Given the description of an element on the screen output the (x, y) to click on. 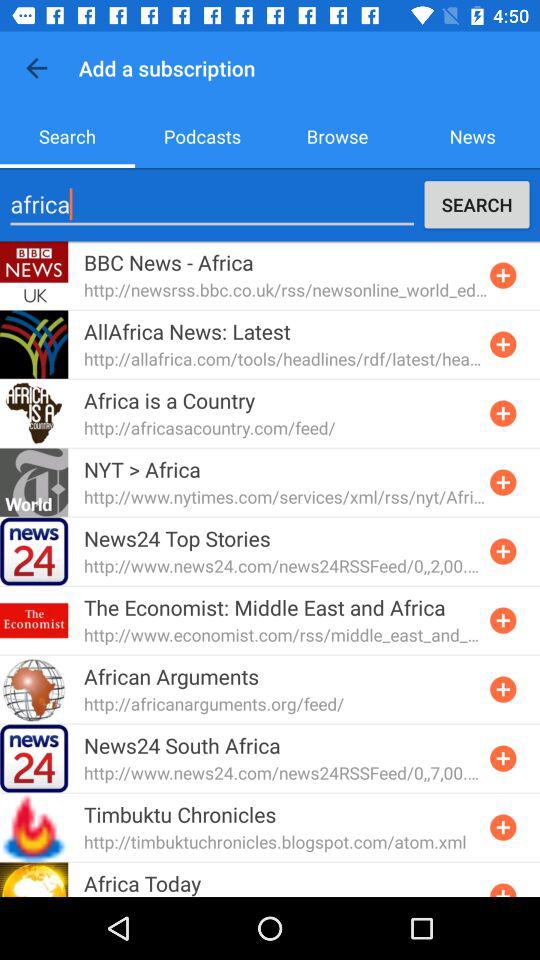
tap the icon below the http www economist (171, 676)
